Given the description of an element on the screen output the (x, y) to click on. 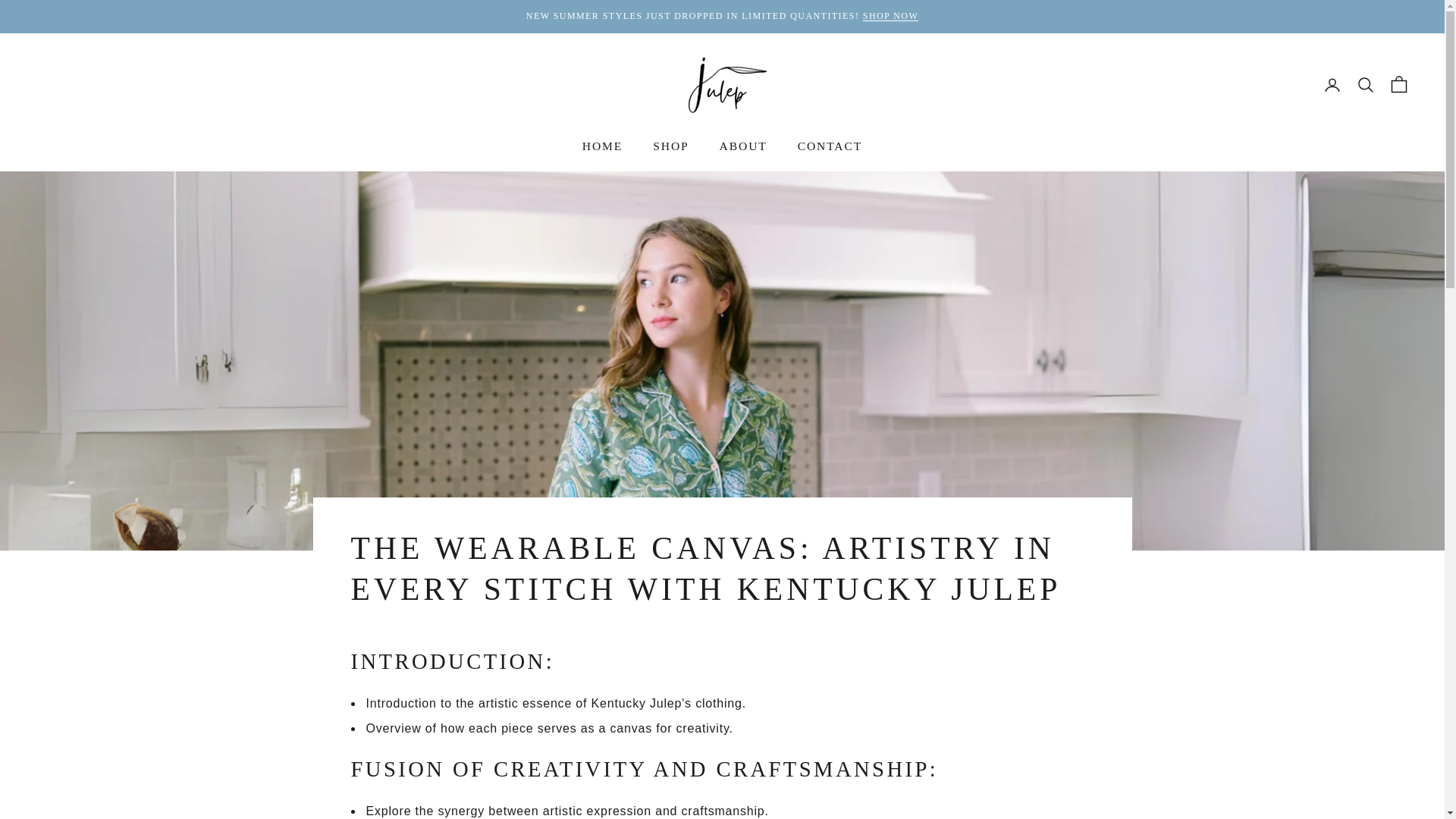
Open account page (1331, 85)
All products (890, 15)
HOME (602, 146)
Kentucky Julep (722, 84)
Open search (1365, 85)
ABOUT (743, 146)
CONTACT (830, 146)
SHOP NOW (890, 15)
Open cart (1398, 85)
